Given the description of an element on the screen output the (x, y) to click on. 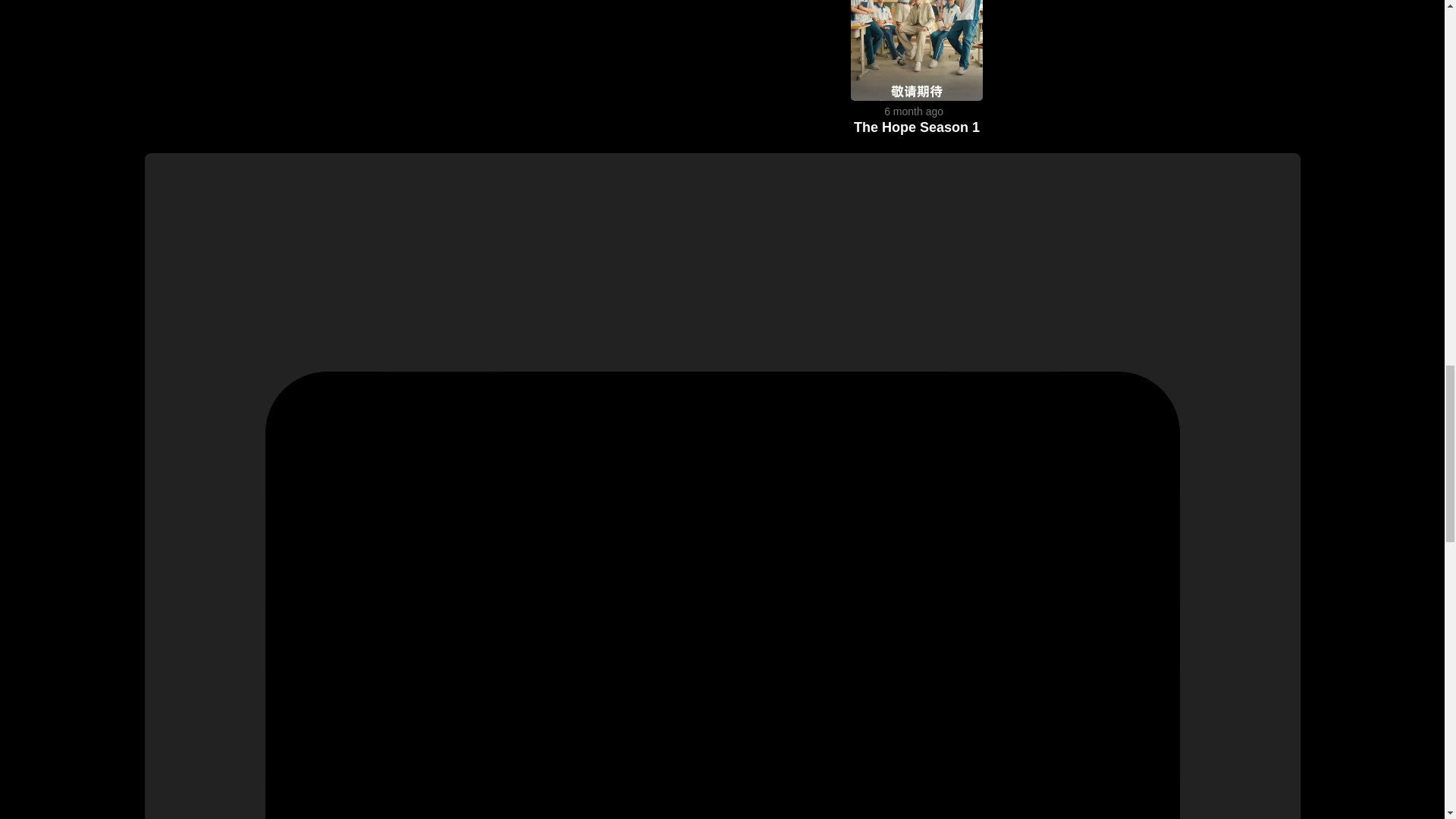
The Hope Season 1 (916, 127)
The Hope Season 1 (916, 96)
The Hope Season 1 (916, 127)
